Given the description of an element on the screen output the (x, y) to click on. 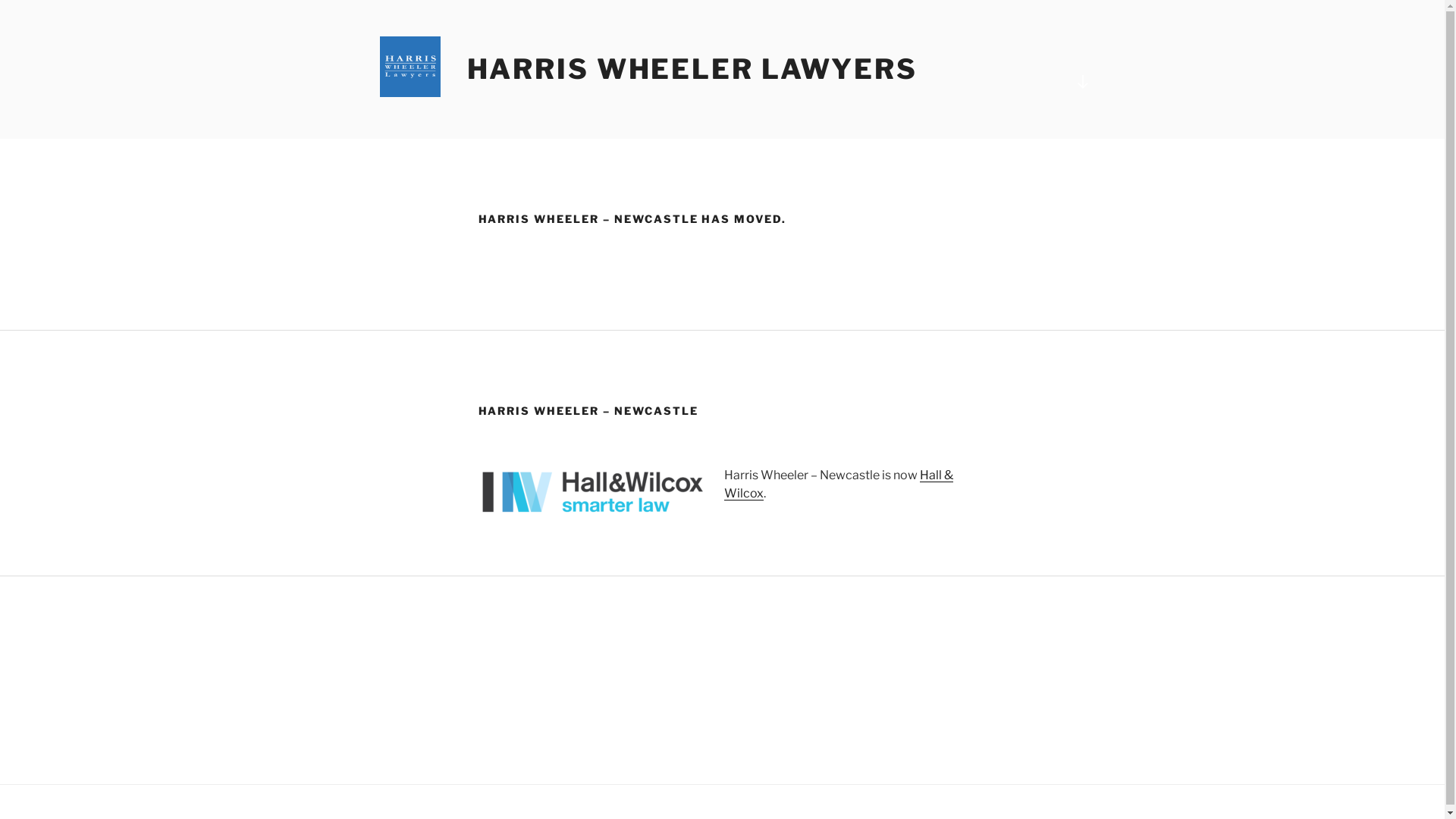
HARRIS WHEELER LAWYERS Element type: text (692, 68)
Hall & Wilcox Element type: text (837, 483)
Scroll down to content Element type: text (1082, 81)
